Given the description of an element on the screen output the (x, y) to click on. 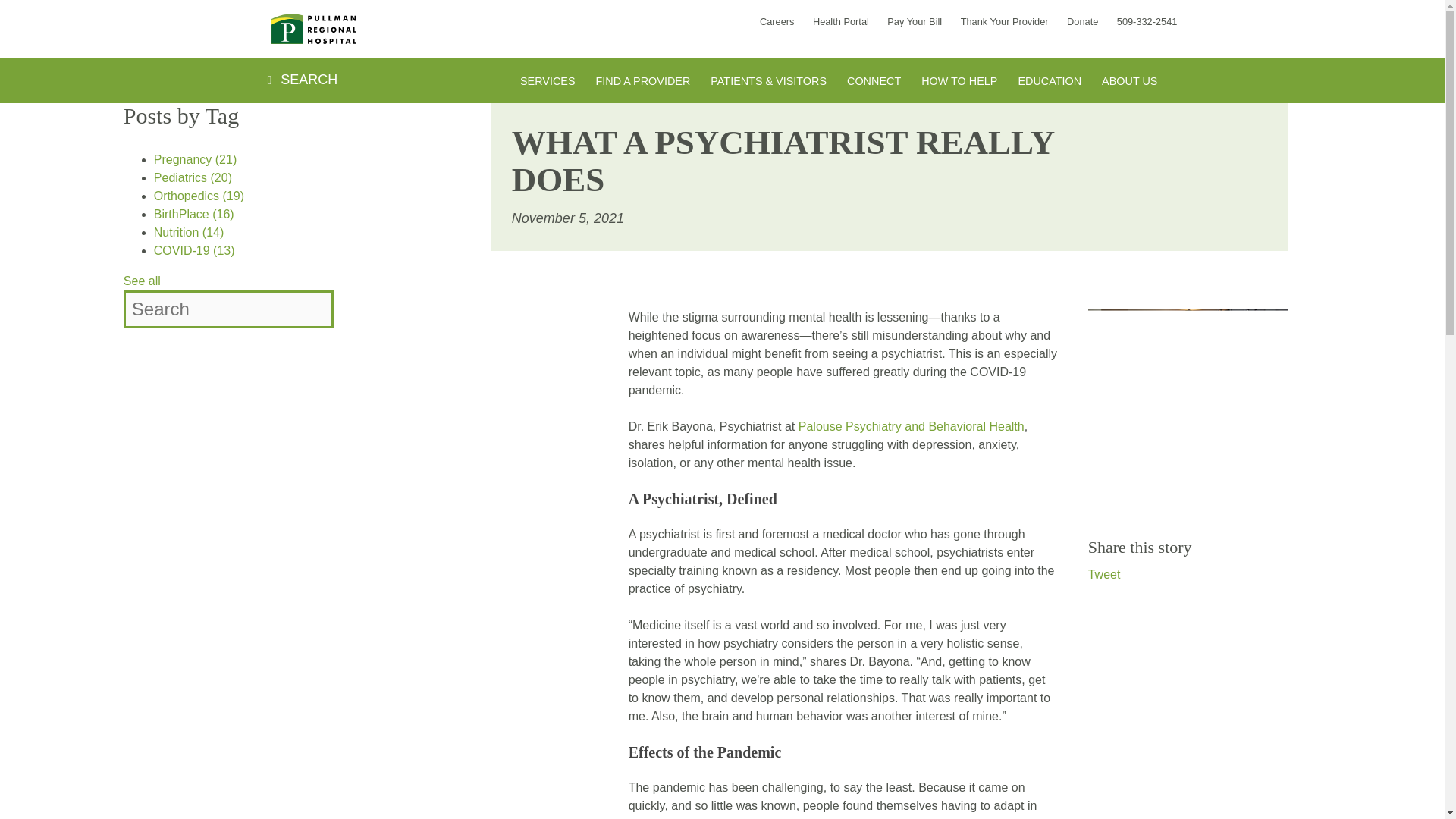
Donate (1082, 21)
Pay Your Bill (914, 21)
EDUCATION (1049, 81)
ABOUT US (1129, 81)
SERVICES (547, 81)
509-332-2541 (1146, 21)
HOW TO HELP (959, 81)
Thank Your Provider (1004, 21)
FIND A PROVIDER (642, 81)
Health Portal (840, 21)
